Given the description of an element on the screen output the (x, y) to click on. 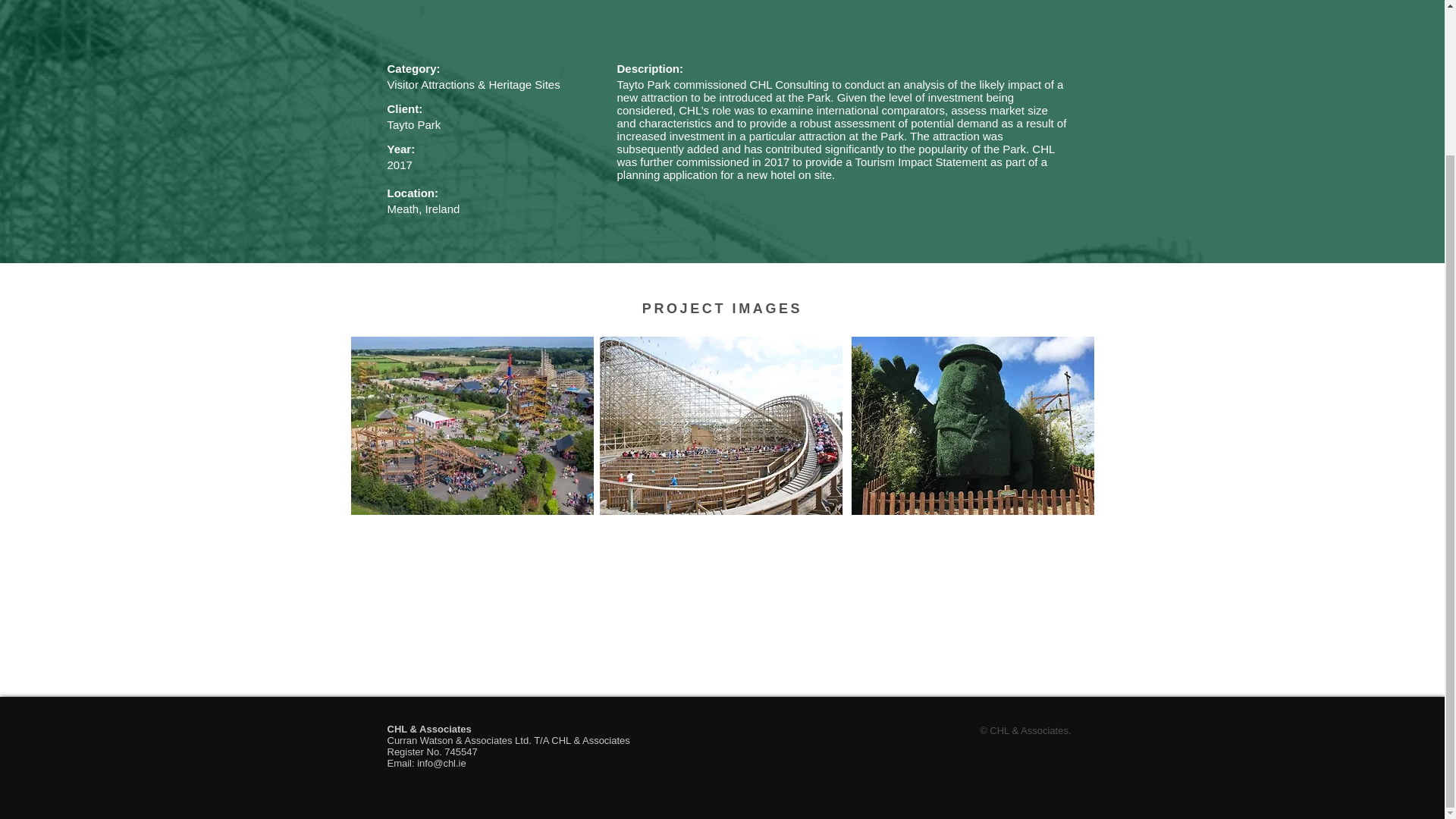
taytopark3.jpg (971, 425)
taytopark1.jpg (471, 425)
taytopark2.jpg (719, 425)
